Given the description of an element on the screen output the (x, y) to click on. 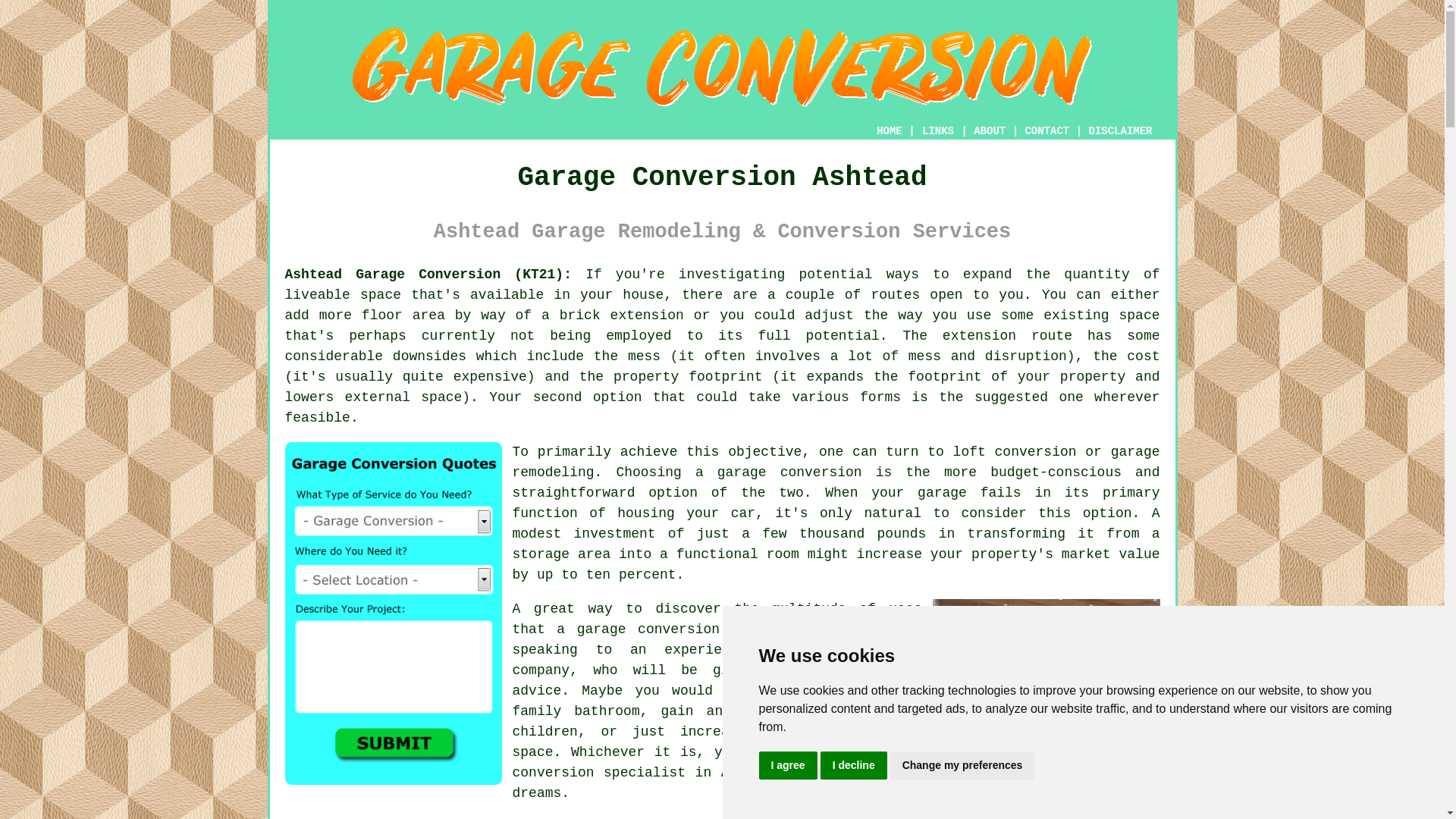
garage conversion (789, 472)
I decline (853, 765)
I agree (787, 765)
Garage Conversion Ashtead (721, 66)
LINKS (938, 131)
HOME (889, 131)
bespoke garage remodeling (836, 461)
Change my preferences (962, 765)
Garage Conversion Ashtead Surrey (1046, 673)
